Given the description of an element on the screen output the (x, y) to click on. 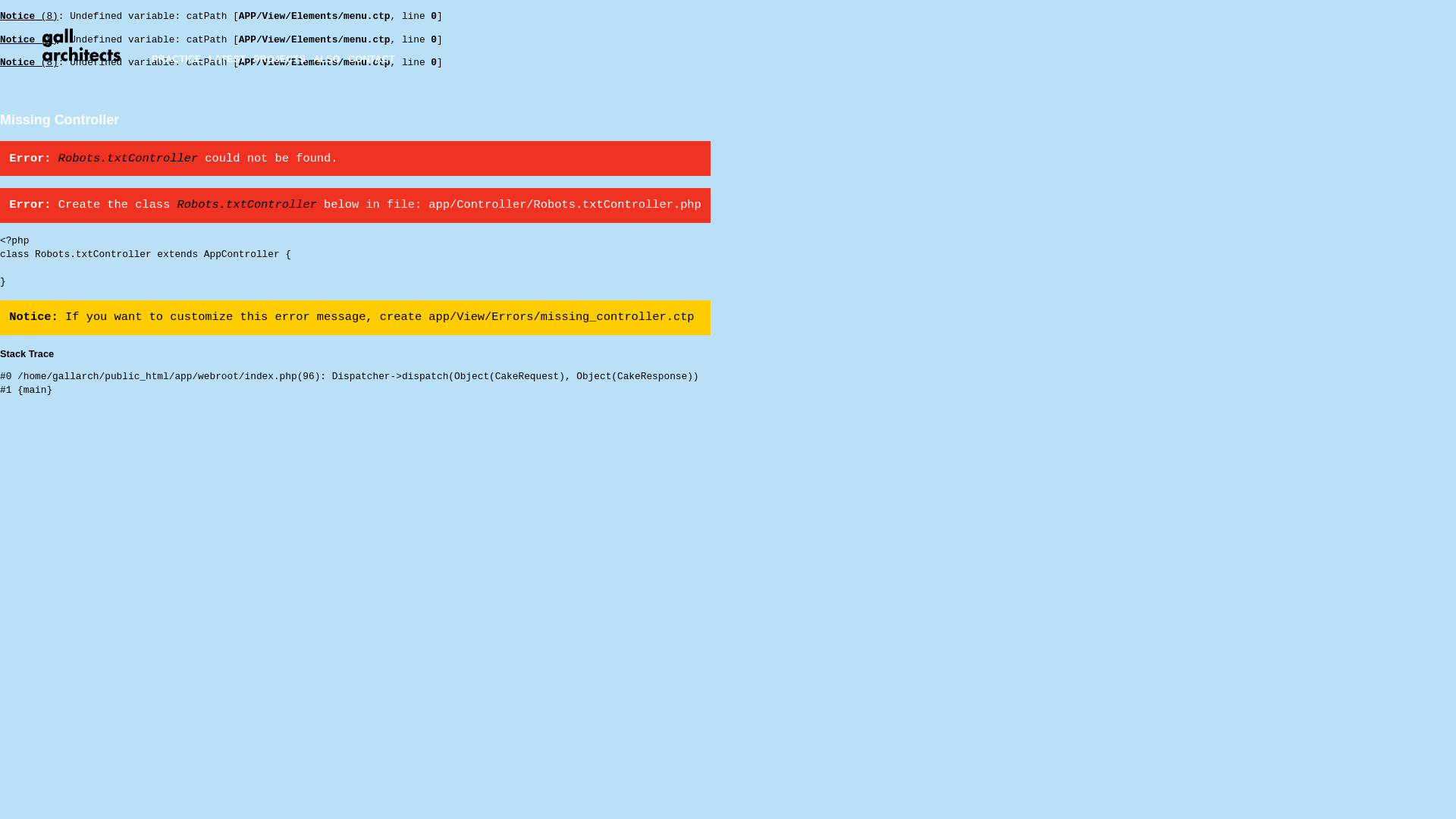
GALL ARCHITECTS Element type: text (81, 45)
CONTACT Element type: text (371, 58)
Notice (8) Element type: text (29, 62)
Notice (8) Element type: text (29, 38)
LATEST Element type: text (226, 58)
Notice (8) Element type: text (29, 15)
PROJECTS Element type: text (279, 58)
PRACTICE Element type: text (175, 58)
ALSO Element type: text (326, 58)
